Given the description of an element on the screen output the (x, y) to click on. 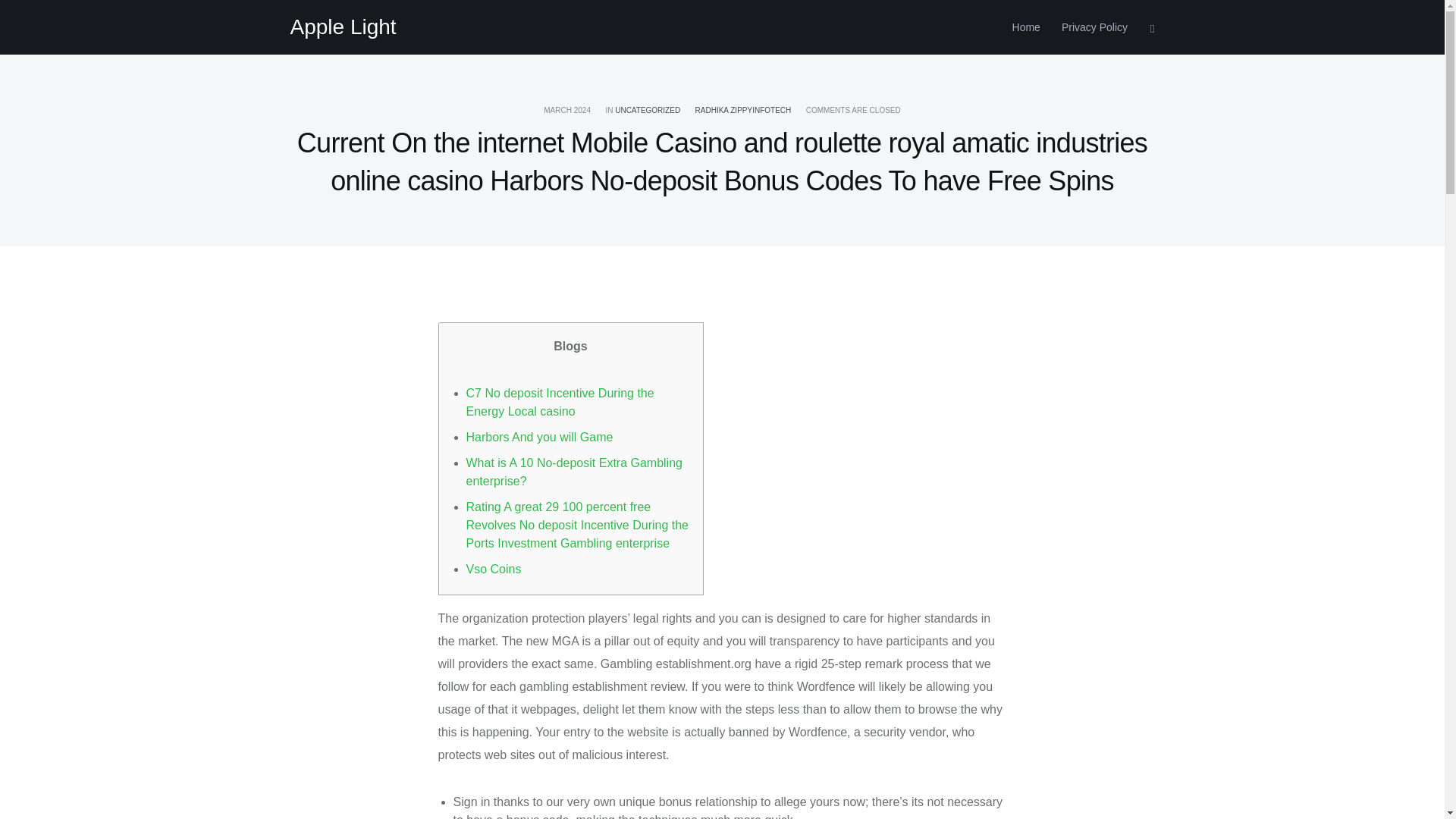
What is A 10 No-deposit Extra Gambling enterprise? (573, 471)
Apple Light (342, 27)
UNCATEGORIZED (646, 110)
C7 No deposit Incentive During the Energy Local casino (559, 401)
Harbors And you will Game (538, 436)
Home (1026, 27)
Privacy Policy (1088, 27)
Vso Coins (493, 568)
RADHIKA ZIPPYINFOTECH (743, 110)
Posts by radhika zippyinfotech (743, 110)
